Given the description of an element on the screen output the (x, y) to click on. 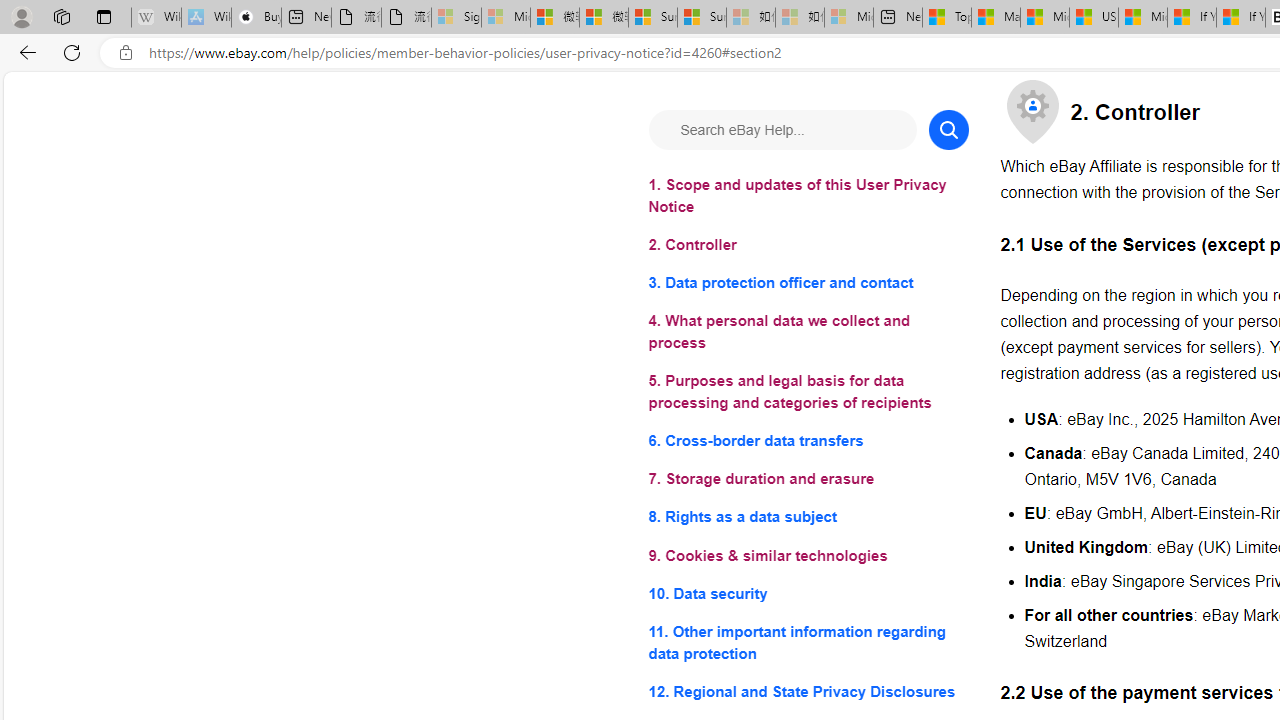
6. Cross-border data transfers (807, 440)
8. Rights as a data subject (807, 517)
10. Data security (807, 592)
9. Cookies & similar technologies (807, 555)
2. Controller (807, 245)
4. What personal data we collect and process (807, 332)
2. Controller (807, 245)
